Given the description of an element on the screen output the (x, y) to click on. 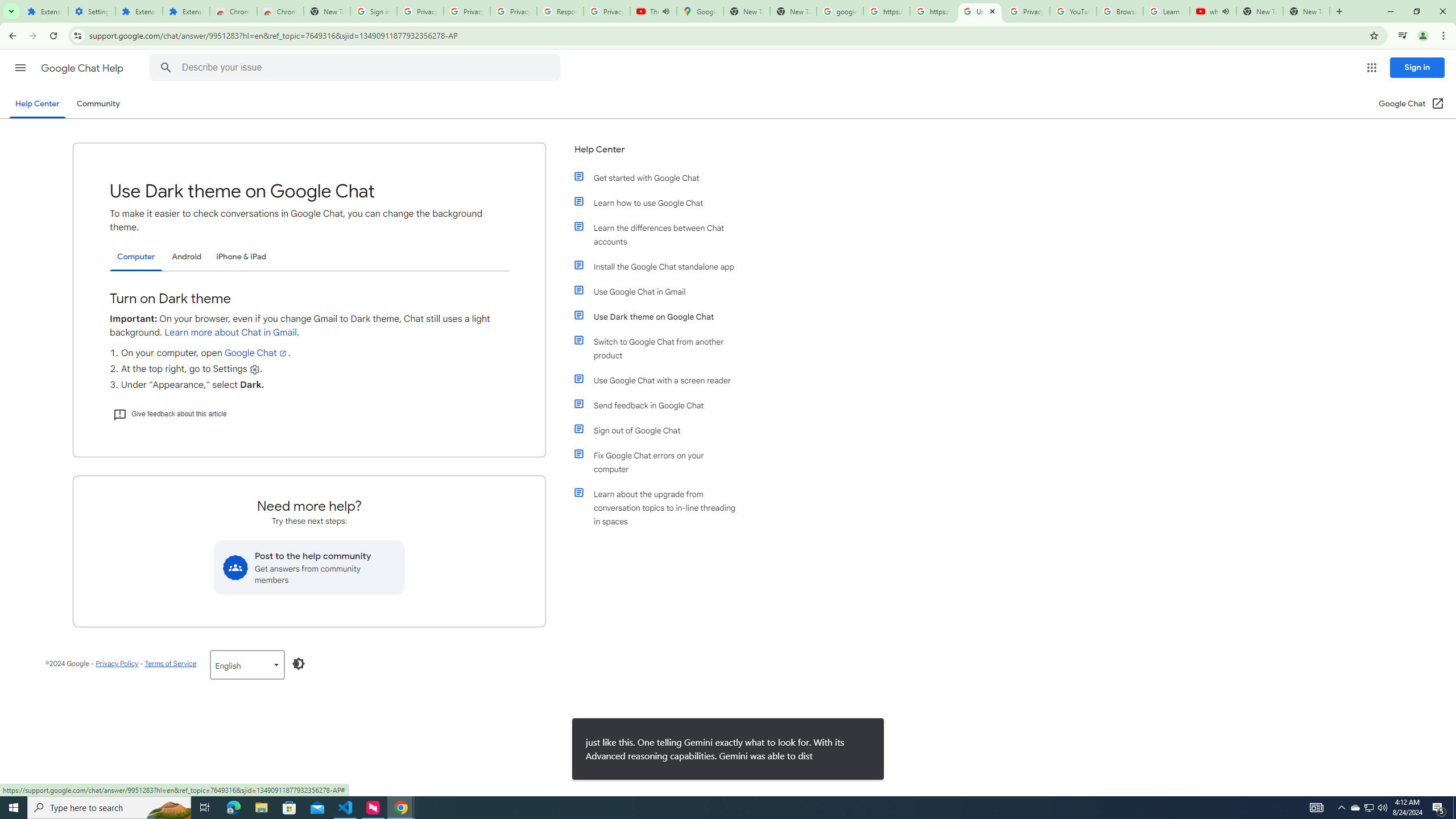
Give feedback about this article (169, 413)
Google Chat (256, 352)
Mute tab (1225, 10)
Describe your issue (356, 67)
Sign out of Google Chat (661, 430)
Chrome Web Store - Themes (279, 11)
Extensions (44, 11)
Google Chat Help (82, 68)
Browse Chrome as a guest - Computer - Google Chrome Help (1120, 11)
